Given the description of an element on the screen output the (x, y) to click on. 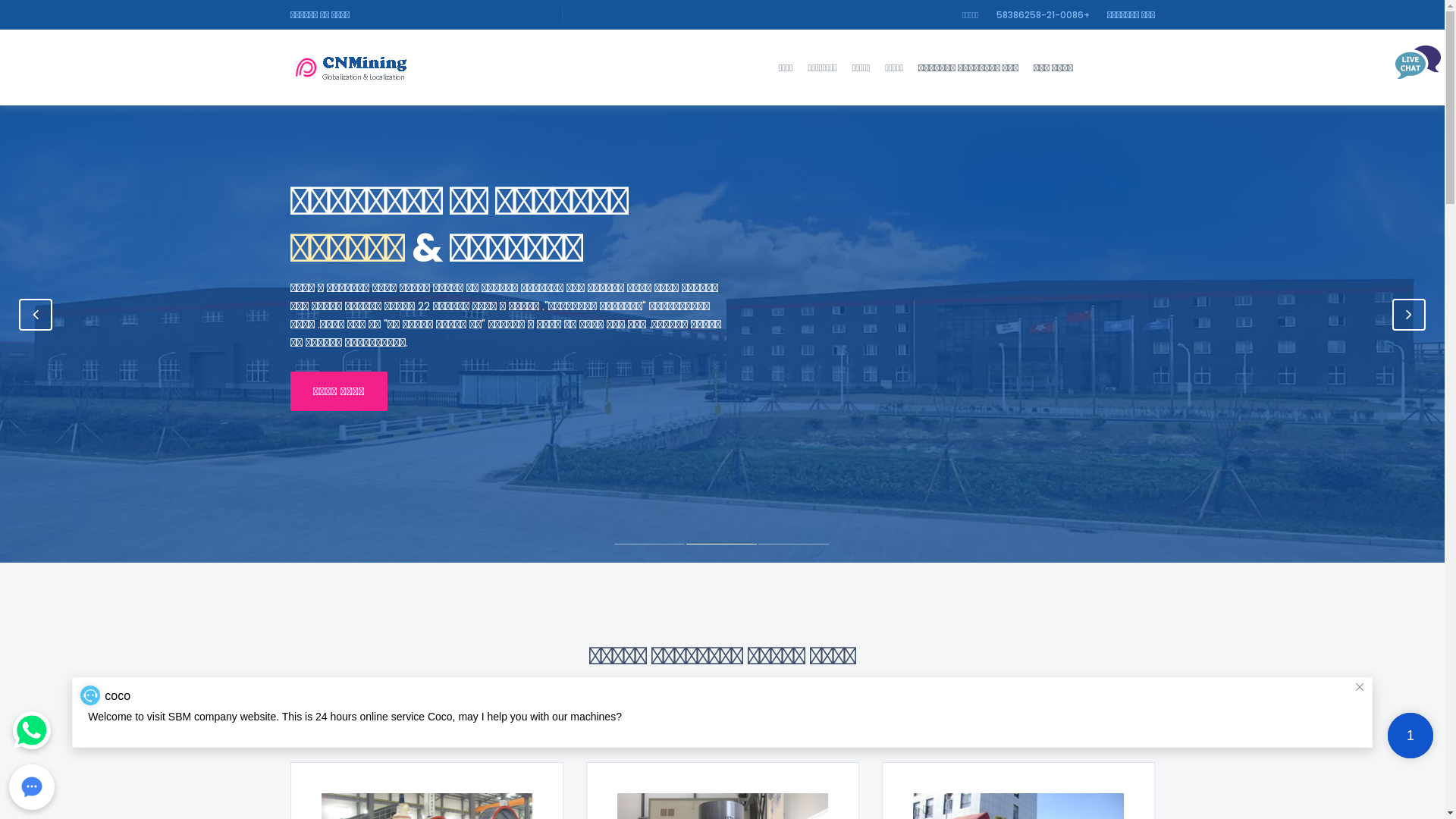
+0086-21-58386258 Element type: text (1042, 14)
